Given the description of an element on the screen output the (x, y) to click on. 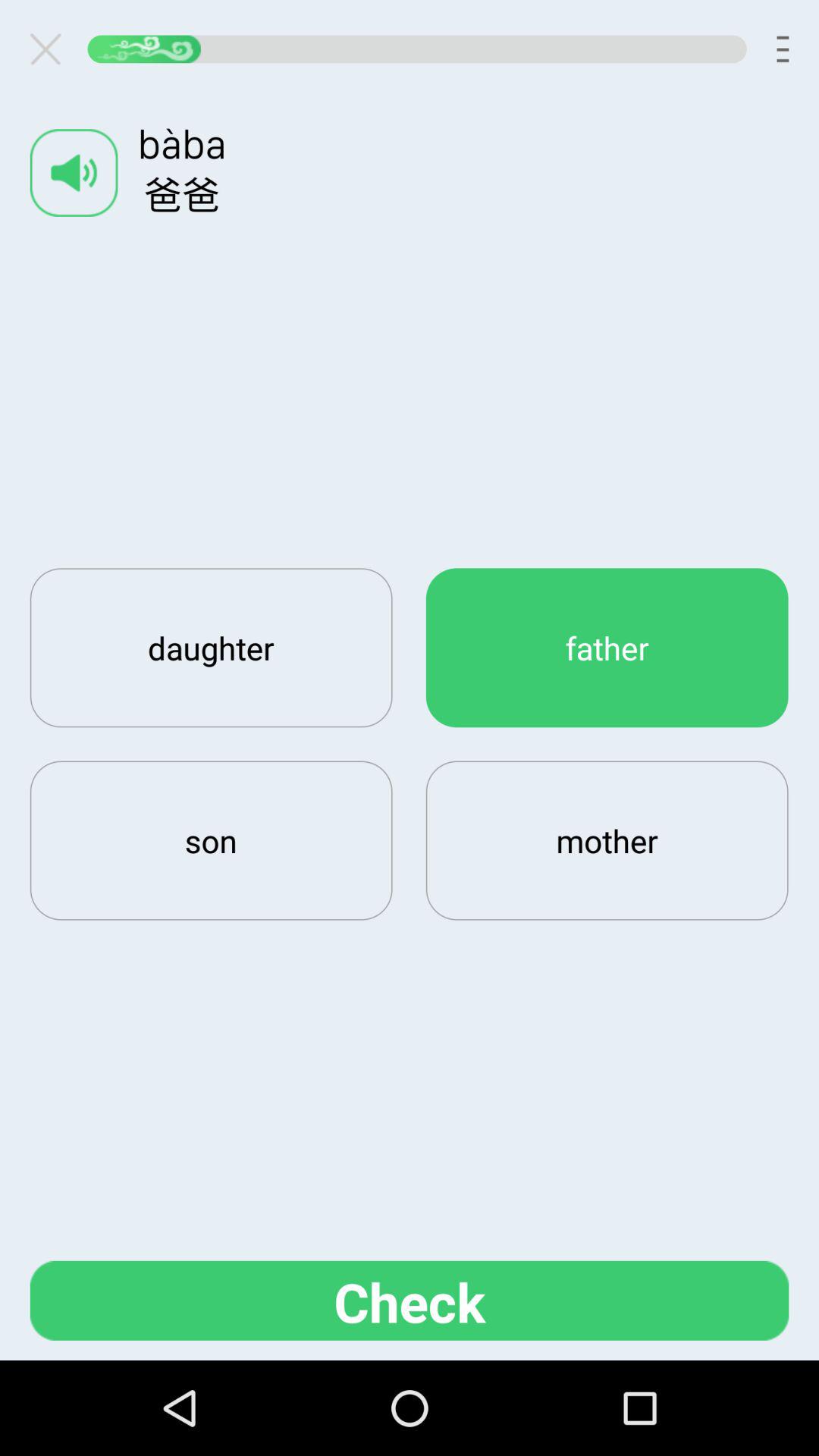
hear pronunciation (73, 172)
